Given the description of an element on the screen output the (x, y) to click on. 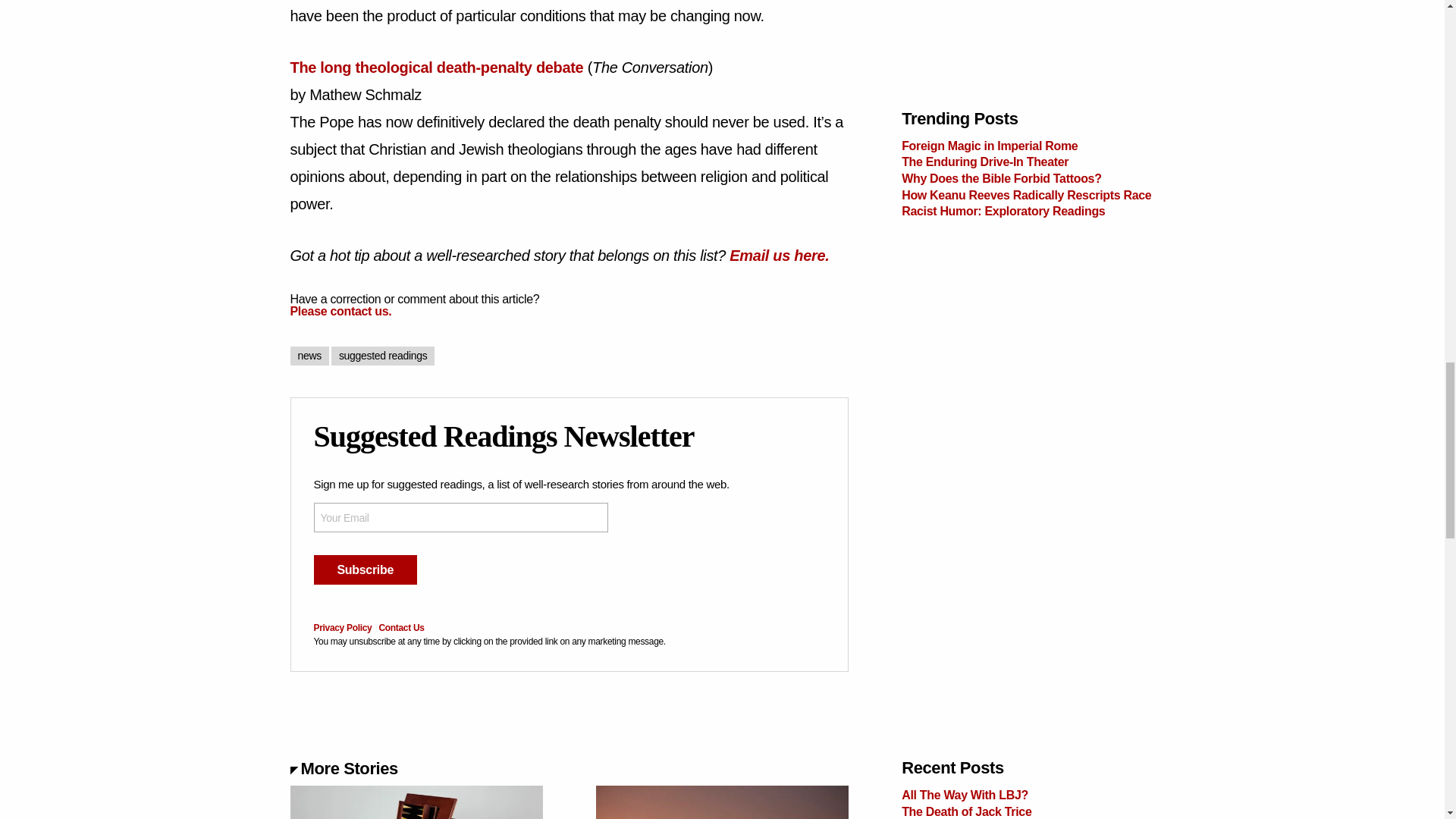
Subscribe (365, 569)
